Given the description of an element on the screen output the (x, y) to click on. 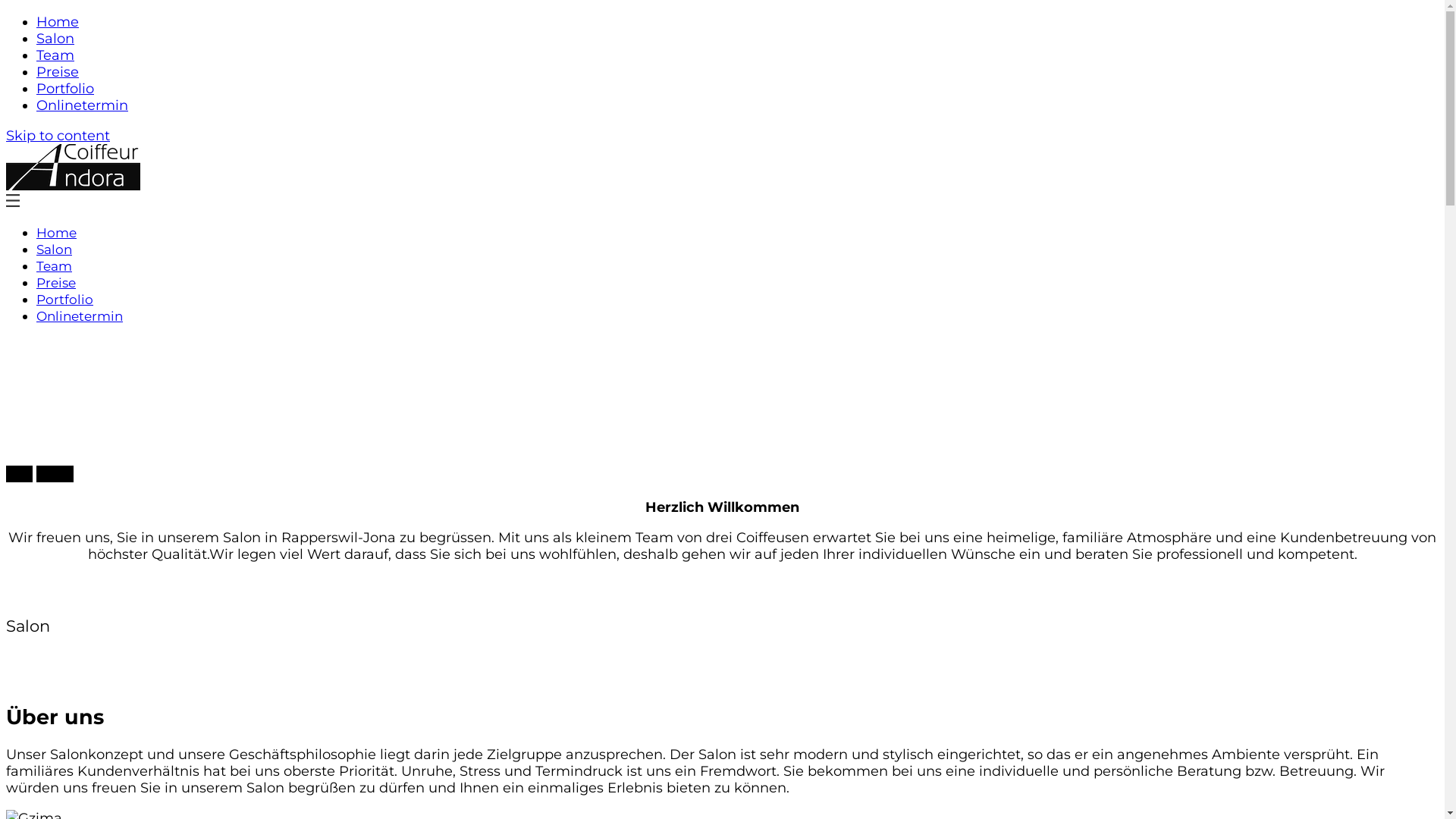
Home Element type: text (57, 21)
Portfolio Element type: text (65, 88)
Preise Element type: text (57, 71)
Left Element type: text (19, 473)
Salon Element type: text (55, 38)
Salon Element type: text (54, 249)
Onlinetermin Element type: text (79, 315)
Home Element type: text (56, 232)
Onlinetermin Element type: text (82, 105)
Preise Element type: text (55, 282)
Team Element type: text (55, 55)
Skip to content Element type: text (57, 135)
Right Element type: text (54, 473)
Portfolio Element type: text (64, 299)
Team Element type: text (54, 265)
